Given the description of an element on the screen output the (x, y) to click on. 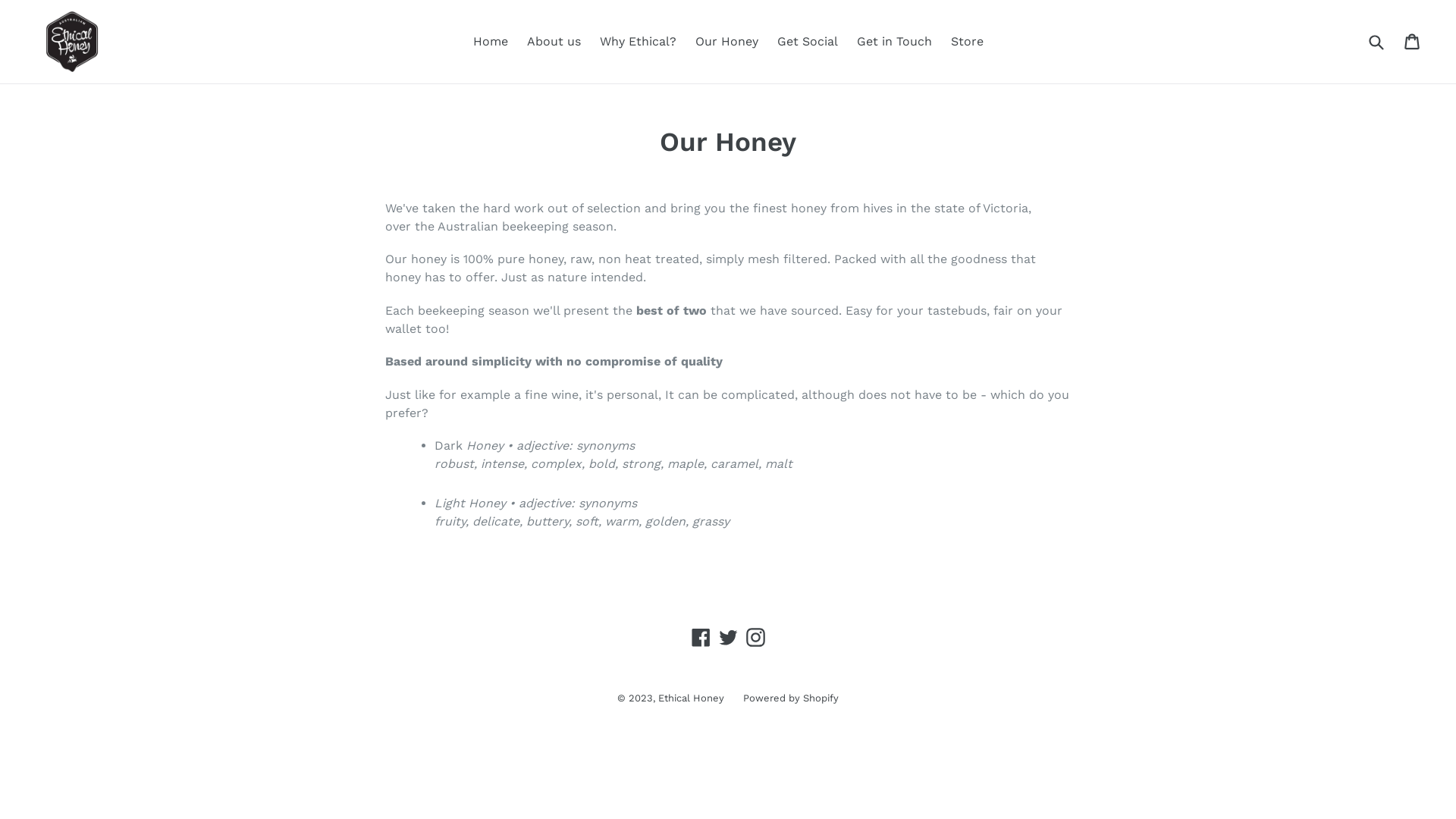
About us Element type: text (552, 41)
Get in Touch Element type: text (894, 41)
Home Element type: text (490, 41)
Powered by Shopify Element type: text (790, 697)
Facebook Element type: text (700, 637)
Submit Element type: text (1375, 40)
Our Honey Element type: text (726, 41)
Cart
Cart Element type: text (1412, 41)
Instagram Element type: text (754, 637)
Twitter Element type: text (727, 637)
Ethical Honey Element type: text (691, 697)
Why Ethical? Element type: text (637, 41)
Store Element type: text (967, 41)
Get Social Element type: text (806, 41)
